Given the description of an element on the screen output the (x, y) to click on. 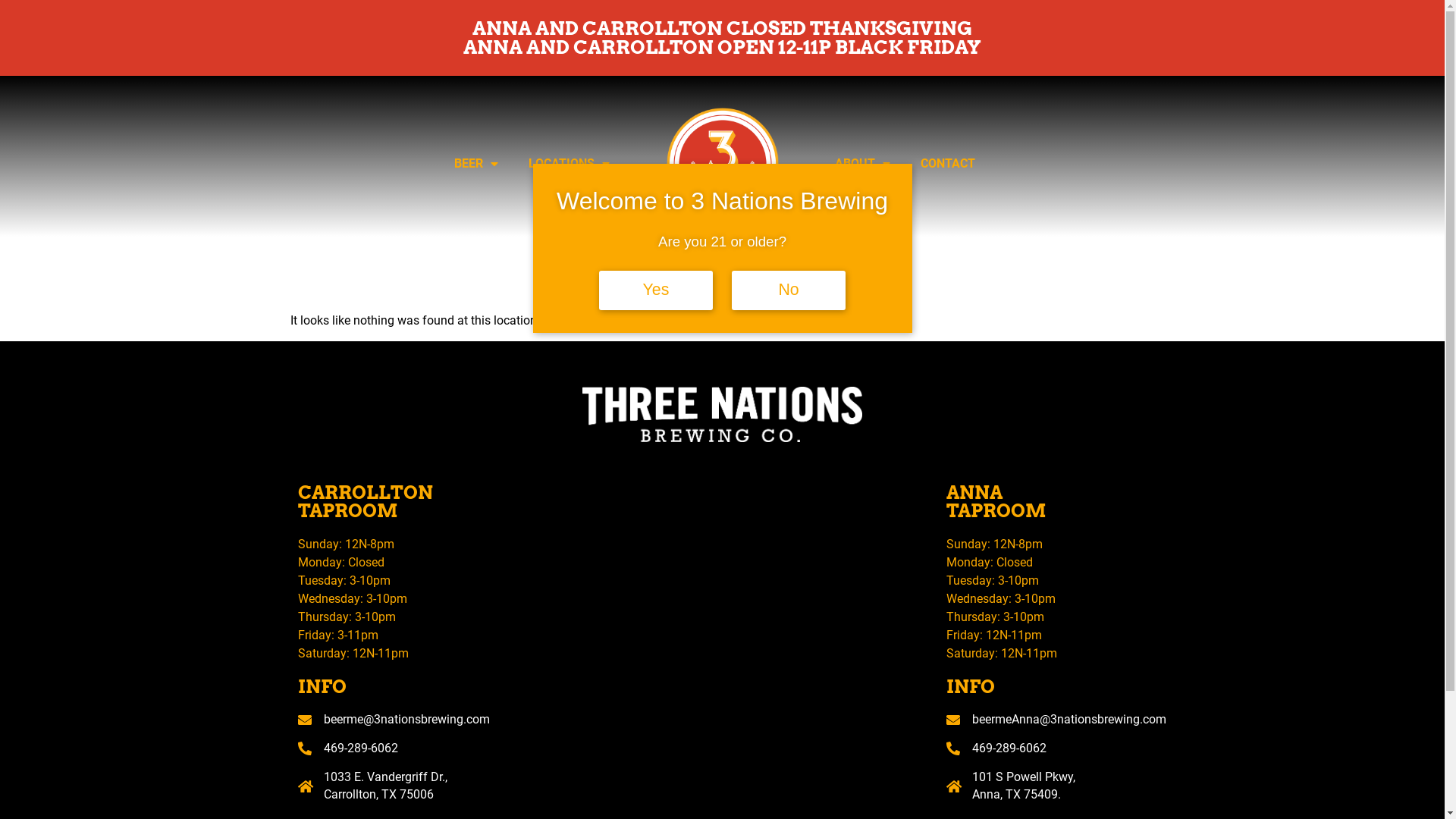
Yes Element type: text (655, 290)
101 S Powell Pkwy,
Anna, TX 75409. Element type: text (1046, 785)
1033 E. Vandergriff Dr.,
Carrollton, TX 75006 Element type: text (397, 785)
No Element type: text (788, 290)
BEER Element type: text (476, 163)
beermeAnna@3nationsbrewing.com Element type: text (1046, 719)
LOCATIONS Element type: text (568, 163)
CONTACT Element type: text (947, 163)
469-289-6062 Element type: text (397, 748)
ABOUT Element type: text (862, 163)
beerme@3nationsbrewing.com Element type: text (397, 719)
469-289-6062 Element type: text (1046, 748)
